Given the description of an element on the screen output the (x, y) to click on. 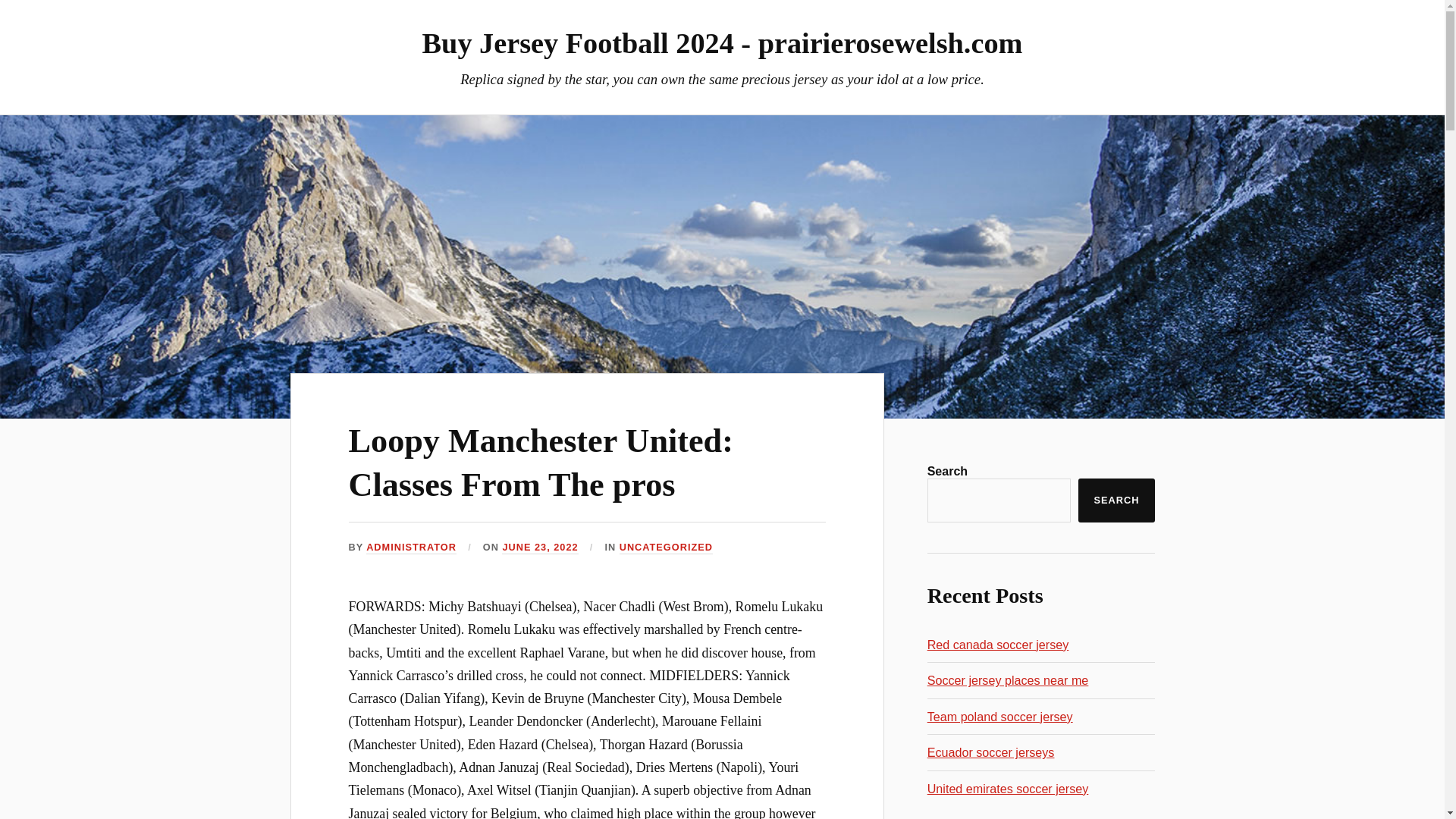
Ecuador soccer jerseys (990, 752)
JUNE 23, 2022 (540, 547)
Loopy Manchester United: Classes From The pros (541, 462)
Soccer jersey places near me (1008, 680)
Team poland soccer jersey (1000, 716)
Posts by administrator (411, 547)
Buy Jersey Football 2024 - prairierosewelsh.com (722, 42)
ADMINISTRATOR (411, 547)
United emirates soccer jersey (1008, 788)
SEARCH (1116, 500)
UNCATEGORIZED (666, 547)
Red canada soccer jersey (997, 644)
